Given the description of an element on the screen output the (x, y) to click on. 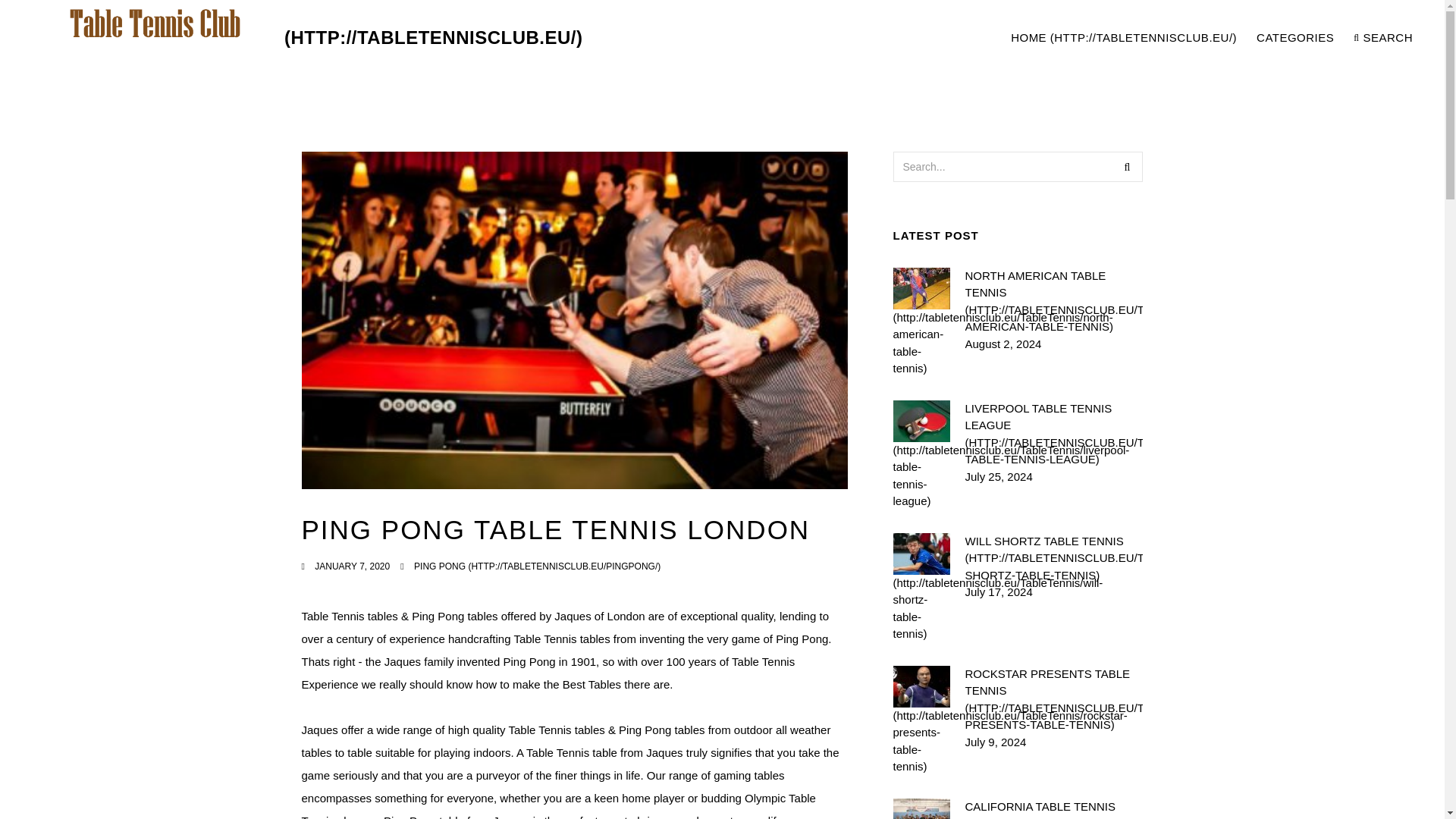
LIVERPOOL TABLE TENNIS LEAGUE (1052, 434)
CATEGORIES (1294, 38)
NORTH AMERICAN TABLE TENNIS (1052, 300)
WILL SHORTZ TABLE TENNIS (1052, 557)
ROCKSTAR PRESENTS TABLE TENNIS (1052, 699)
CALIFORNIA TABLE TENNIS (1052, 808)
Table Tennis Club (303, 38)
SEARCH (1382, 38)
Search (1126, 166)
PING PONG (537, 566)
